Given the description of an element on the screen output the (x, y) to click on. 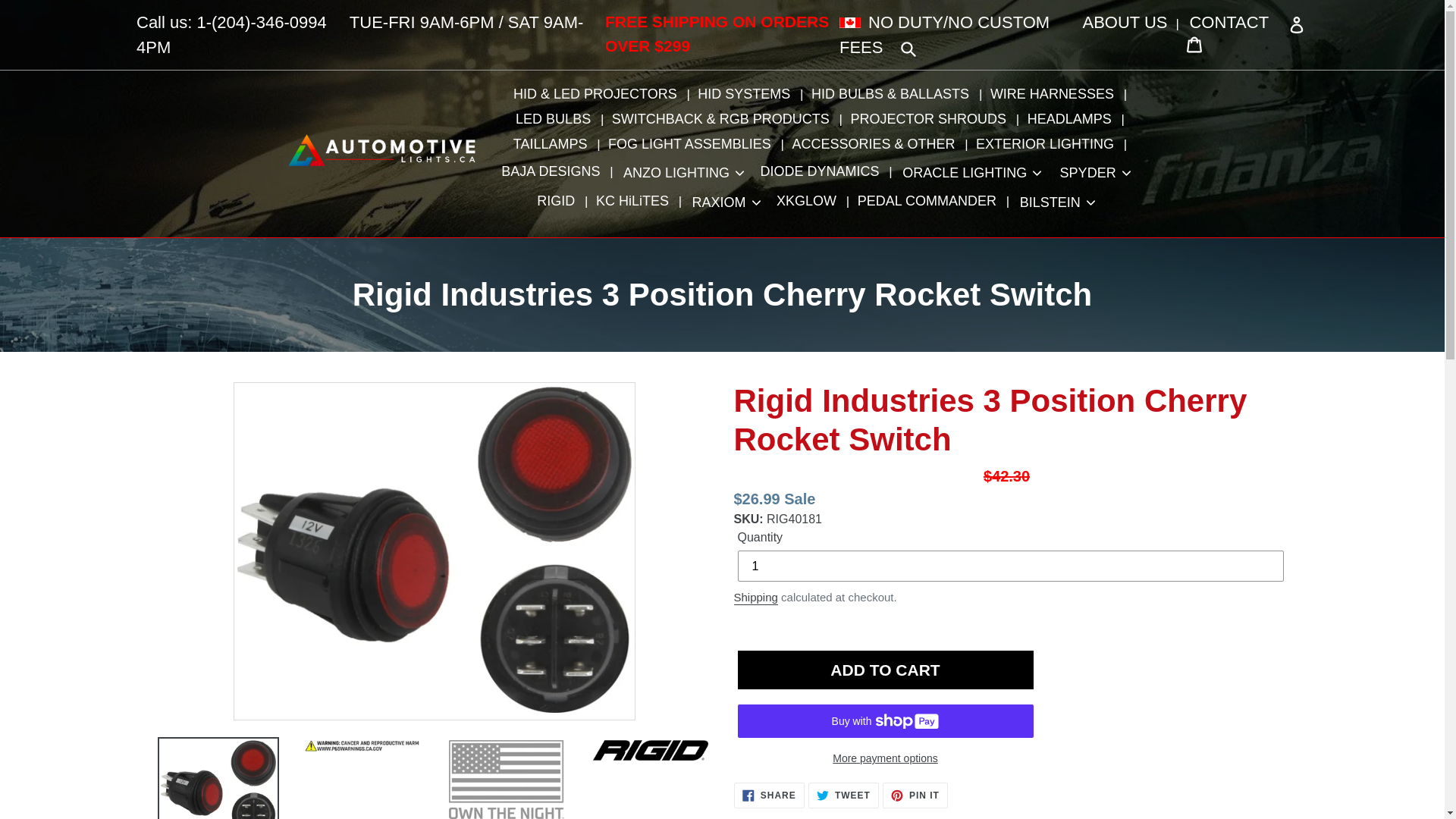
1 (1009, 565)
Cart (1194, 43)
Search (909, 47)
EXTERIOR LIGHTING (1048, 144)
CONTACT (1228, 22)
LED BULBS (556, 119)
HEADLAMPS (1073, 119)
FOG LIGHT ASSEMBLIES (692, 144)
TAILLAMPS (553, 144)
ABOUT US (1125, 22)
Log in (1238, 33)
HID SYSTEMS (747, 94)
PROJECTOR SHROUDS (930, 119)
BAJA DESIGNS (553, 171)
WIRE HARNESSES (1055, 94)
